Given the description of an element on the screen output the (x, y) to click on. 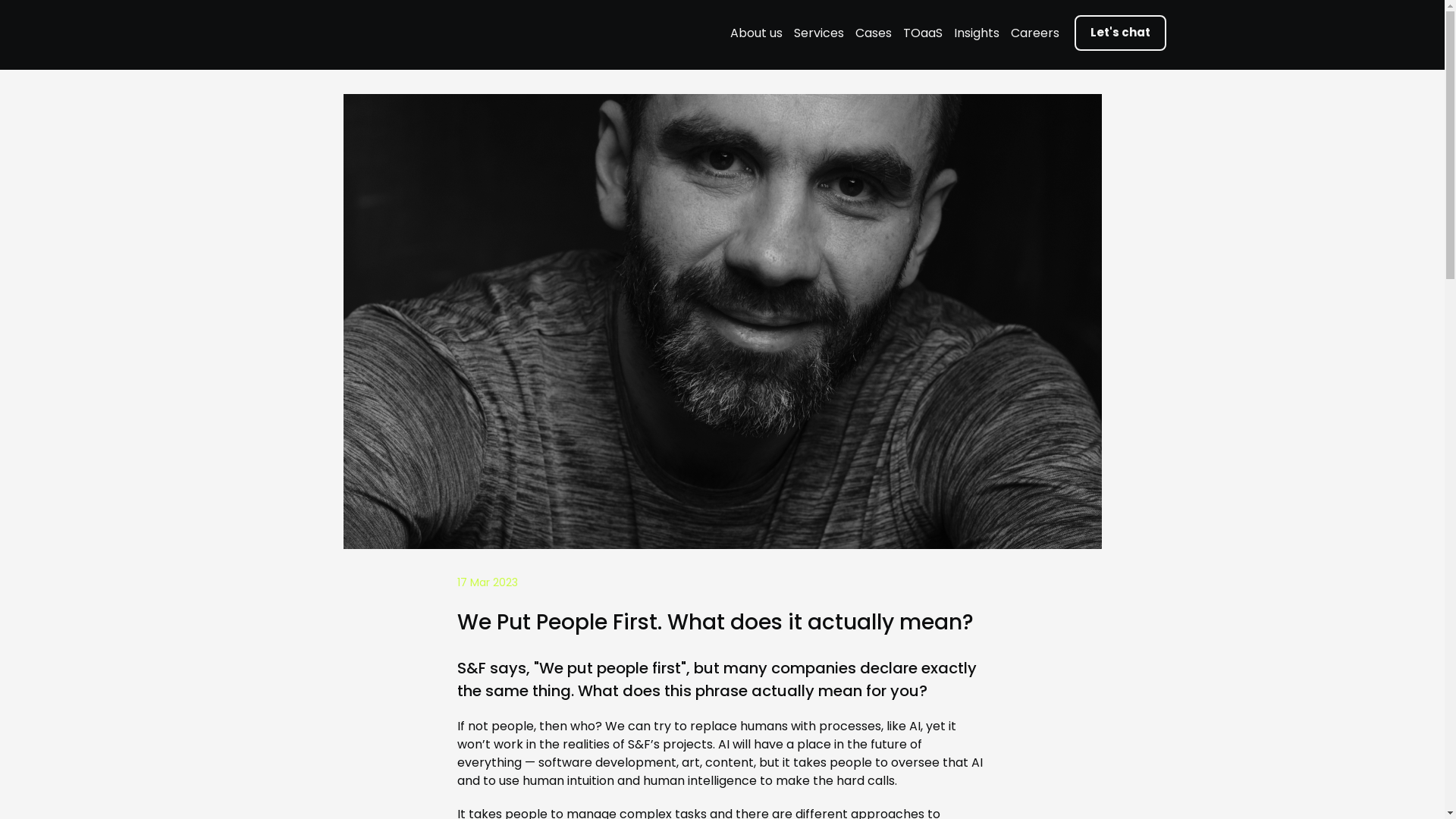
Let's chat (1120, 32)
Insights (975, 32)
About us (755, 32)
Services (818, 32)
TOaaS (922, 32)
Careers (1034, 32)
Cases (873, 32)
